Given the description of an element on the screen output the (x, y) to click on. 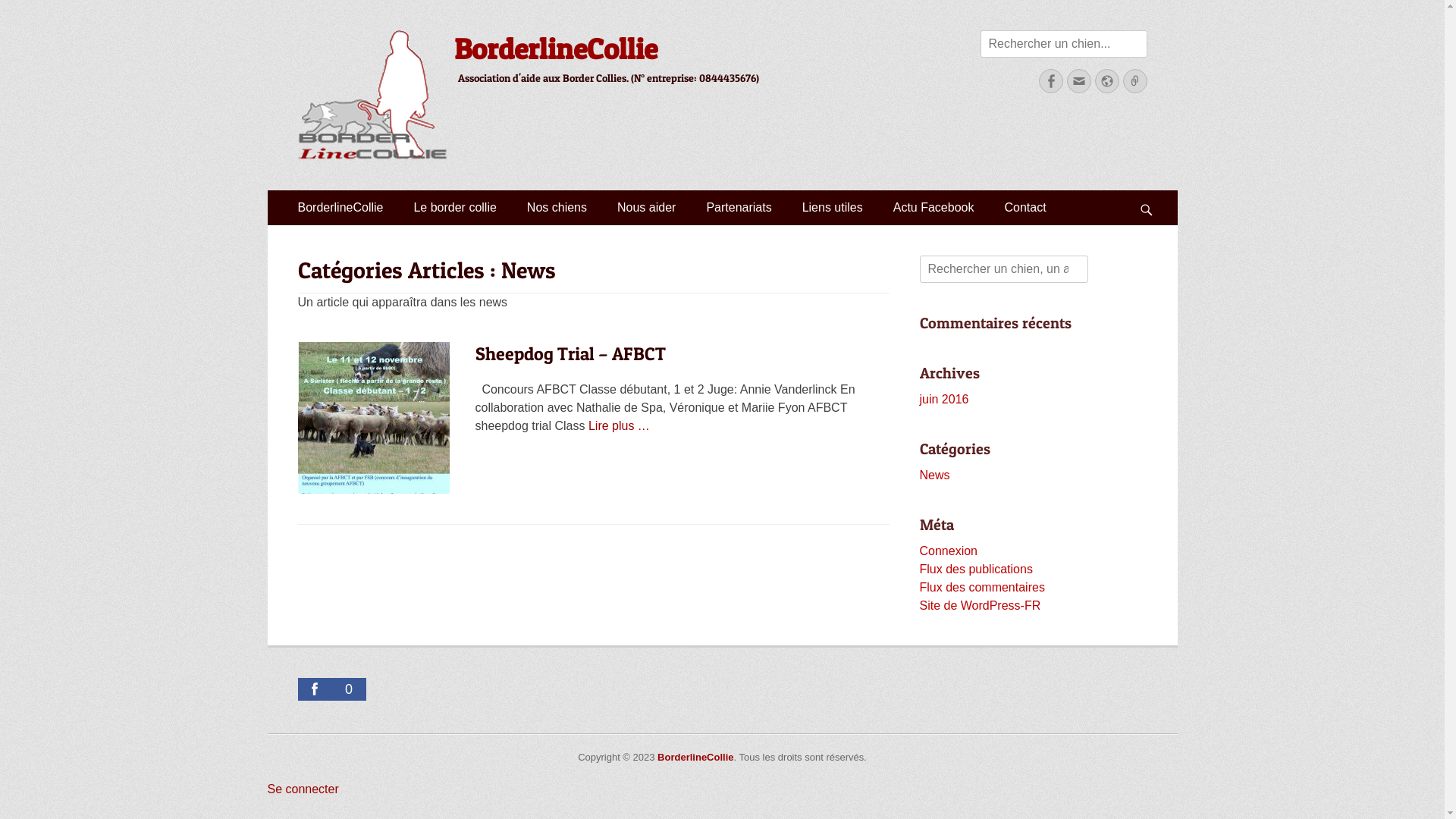
Site web Element type: text (1107, 81)
Email Element type: text (1078, 81)
Partenariats Element type: text (738, 207)
BorderlineCollie Element type: text (340, 207)
Le border collie Element type: text (454, 207)
Connexion Element type: text (948, 550)
Contact Element type: text (1024, 207)
Facebook Element type: text (1050, 81)
Recherche Element type: text (1152, 189)
Liens utiles Element type: text (832, 207)
BorderlineCollie Element type: text (695, 756)
News Element type: text (934, 474)
BorderlineCollie Element type: text (554, 48)
0 Element type: text (331, 688)
Site de WordPress-FR Element type: text (979, 605)
Se connecter Element type: text (302, 788)
Actu Facebook Element type: text (933, 207)
Nos chiens Element type: text (556, 207)
Recherche Element type: text (31, 9)
Flux des commentaires Element type: text (981, 586)
Recherche pour: Element type: hover (1003, 268)
juin 2016 Element type: text (943, 398)
Flux des publications Element type: text (975, 568)
Link Element type: text (1134, 81)
Nous aider Element type: text (646, 207)
